Given the description of an element on the screen output the (x, y) to click on. 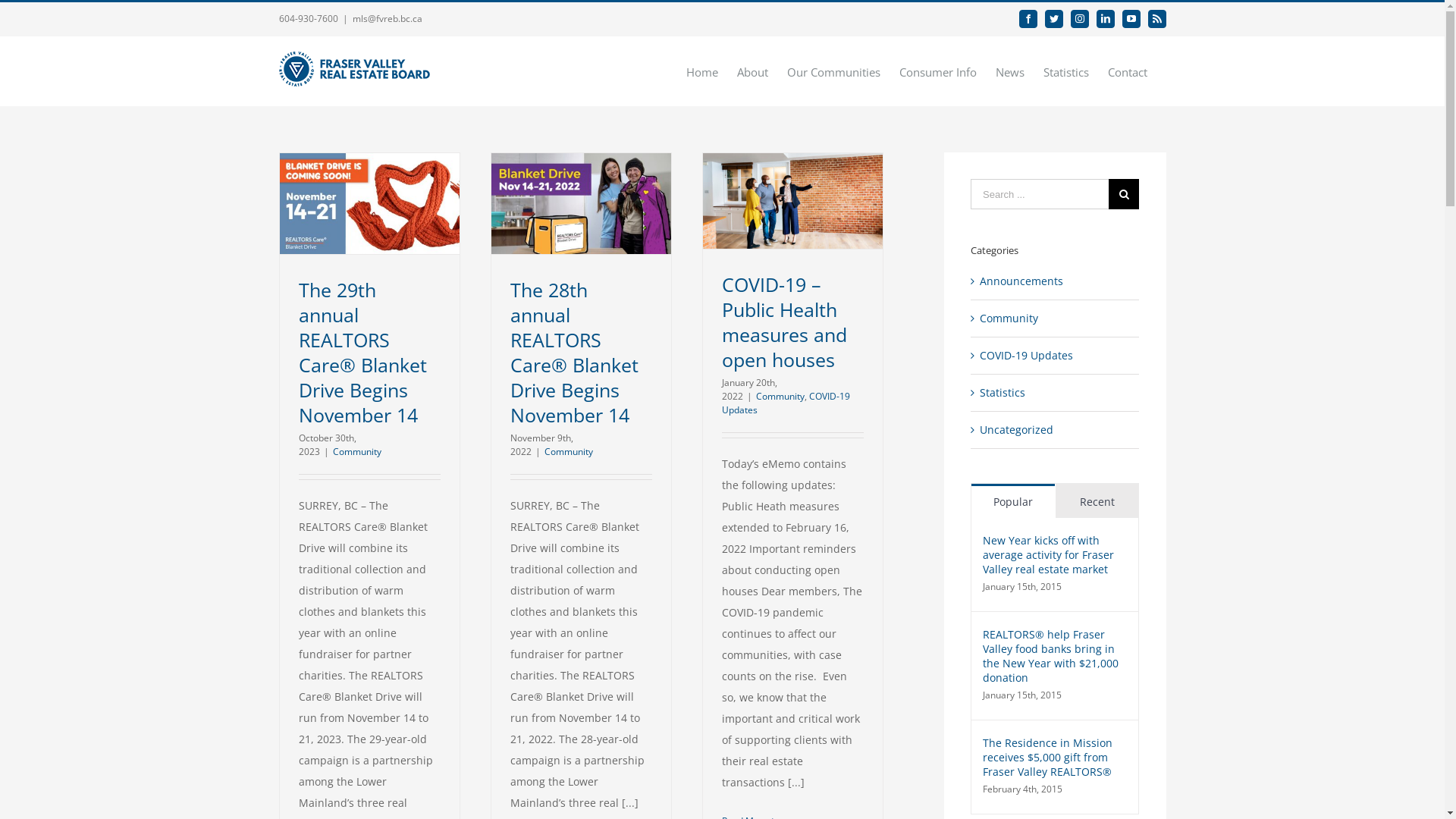
Community Element type: text (779, 395)
Facebook Element type: text (1028, 18)
Recent Element type: text (1097, 500)
Contact Element type: text (1126, 71)
Community Element type: text (356, 451)
Uncategorized Element type: text (1055, 429)
COVID-19 Updates Element type: text (1055, 355)
Community Element type: text (1055, 318)
YouTube Element type: text (1131, 18)
LinkedIn Element type: text (1105, 18)
Popular Element type: text (1012, 500)
Statistics Element type: text (1065, 71)
About Element type: text (752, 71)
COVID-19 Updates Element type: text (785, 402)
mls@fvreb.bc.ca Element type: text (386, 18)
Statistics Element type: text (1055, 392)
Rss Element type: text (1157, 18)
Instagram Element type: text (1079, 18)
Home Element type: text (701, 71)
Twitter Element type: text (1053, 18)
News Element type: text (1008, 71)
Community Element type: text (568, 451)
Consumer Info Element type: text (937, 71)
Our Communities Element type: text (833, 71)
Announcements Element type: text (1055, 280)
